Given the description of an element on the screen output the (x, y) to click on. 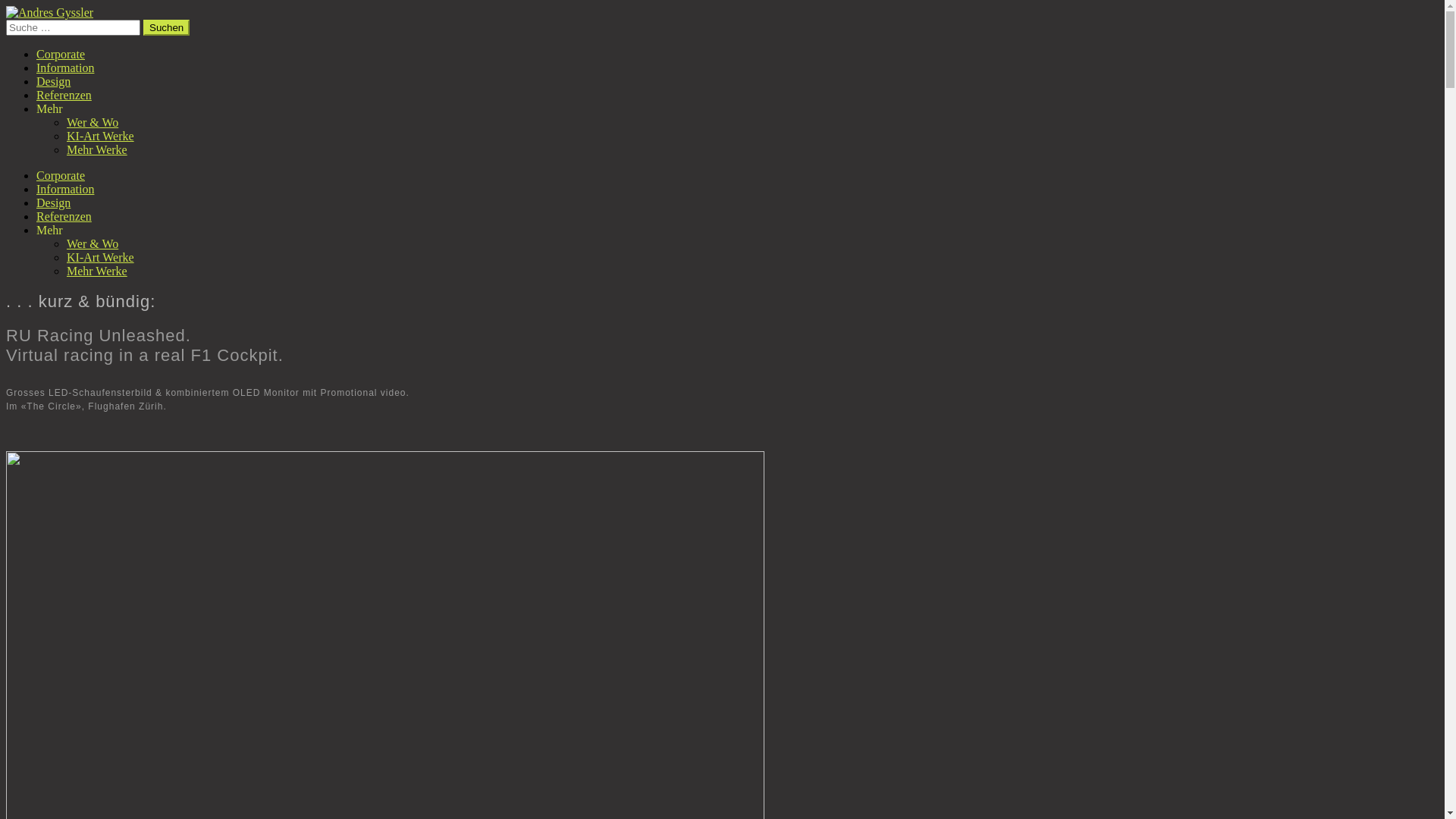
Mehr Element type: text (49, 108)
Suchen Element type: text (166, 27)
Referenzen Element type: text (63, 94)
Information Element type: text (65, 188)
Design Element type: text (53, 81)
Referenzen Element type: text (63, 216)
Corporate Element type: text (60, 53)
Design Element type: text (53, 202)
KI-Art Werke Element type: text (100, 257)
Mehr Werke Element type: text (96, 149)
Wer & Wo Element type: text (92, 243)
Mehr Werke Element type: text (96, 270)
Mehr Element type: text (49, 229)
Information Element type: text (65, 67)
Corporate Element type: text (60, 175)
KI-Art Werke Element type: text (100, 135)
Wer & Wo Element type: text (92, 122)
